Given the description of an element on the screen output the (x, y) to click on. 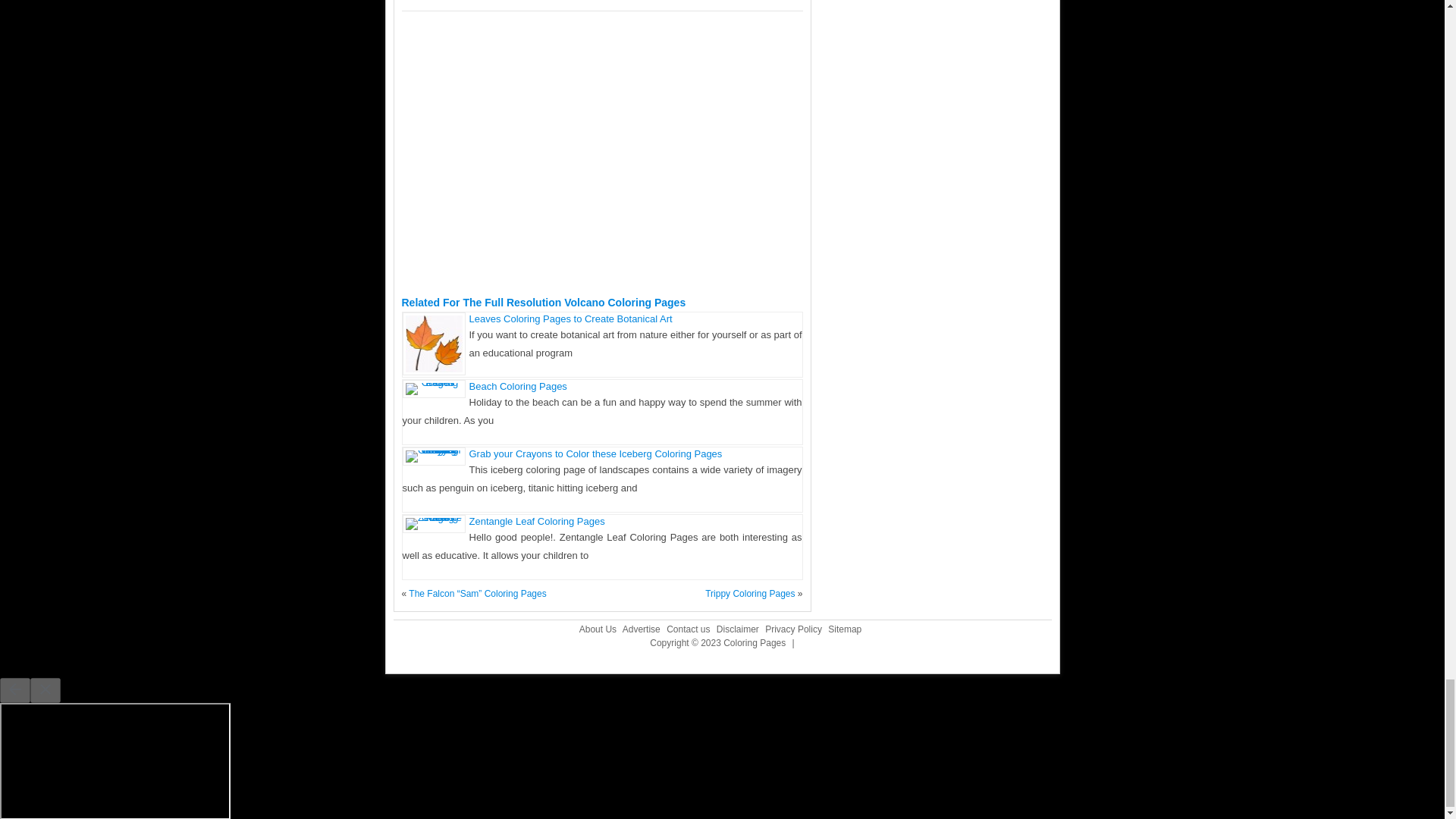
Beach Coloring Pages (432, 382)
Trippy Coloring Pages (749, 593)
Zentangle Leaf Coloring Pages (536, 521)
Beach Coloring Pages (517, 386)
Zentangle Leaf Coloring Pages (536, 521)
Grab your Crayons to Color these Iceberg Coloring Pages (595, 453)
Leaves Coloring Pages to Create Botanical Art (569, 318)
Beach Coloring Pages (517, 386)
Zentangle Leaf Coloring Pages (432, 517)
Leaves Coloring Pages to Create Botanical Art (569, 318)
Leaves Coloring Pages to Create Botanical Art (432, 368)
Grab your Crayons to Color these Iceberg Coloring Pages (595, 453)
Grab your Crayons to Color these Iceberg Coloring Pages (432, 449)
